Given the description of an element on the screen output the (x, y) to click on. 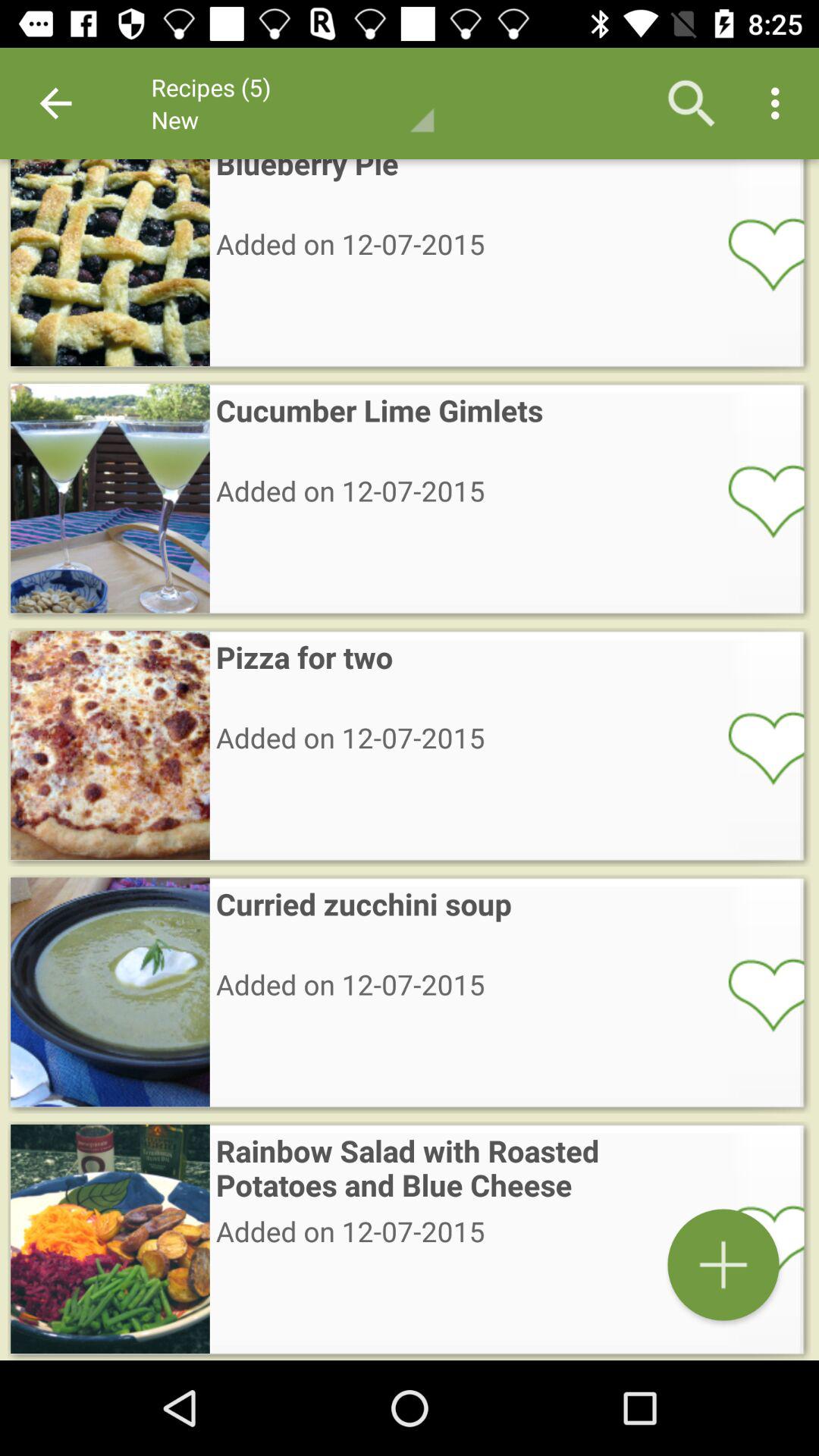
heart like option (756, 993)
